Given the description of an element on the screen output the (x, y) to click on. 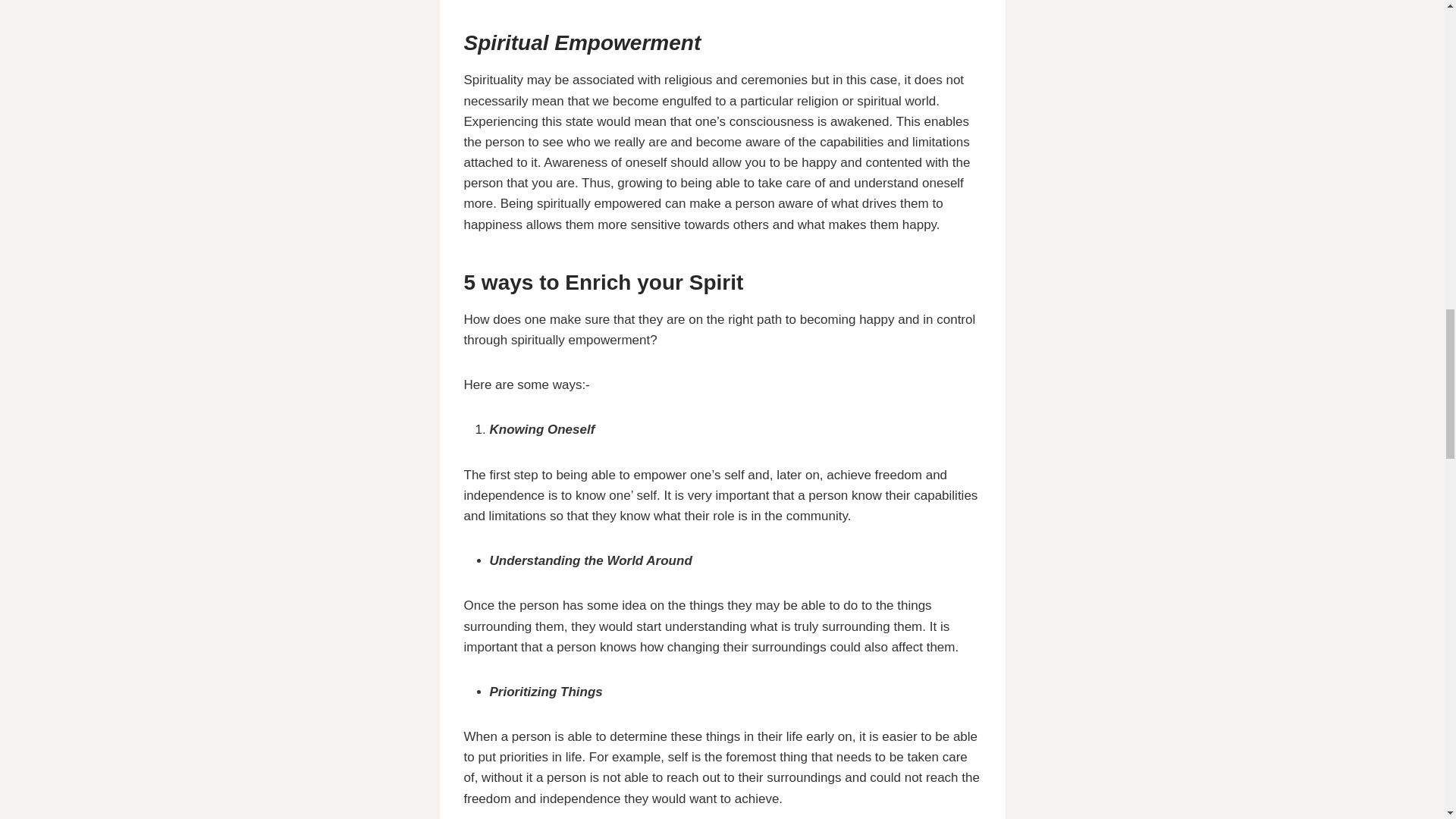
Spiritual Empowerment (582, 42)
5 ways to Enrich your Spirit (604, 282)
